Given the description of an element on the screen output the (x, y) to click on. 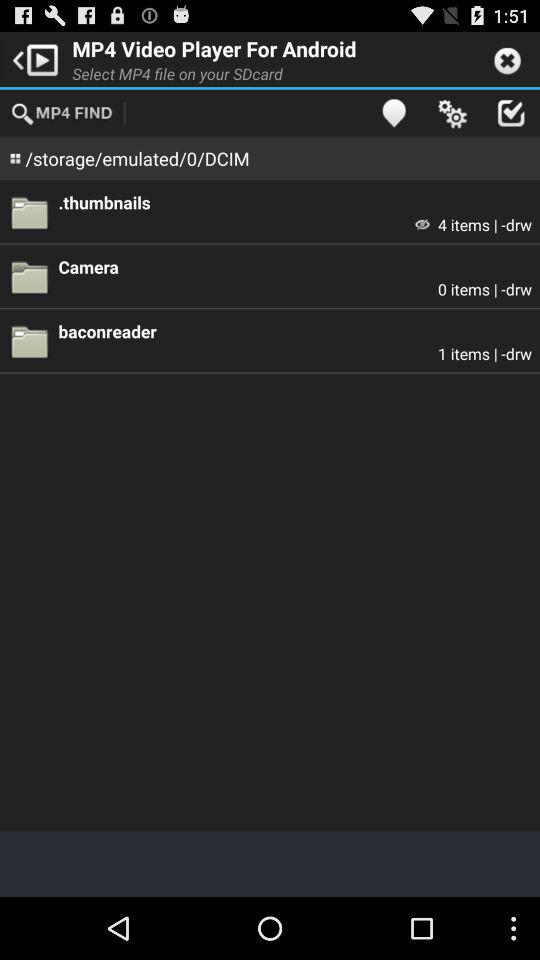
click app above .thumbnails app (452, 112)
